Given the description of an element on the screen output the (x, y) to click on. 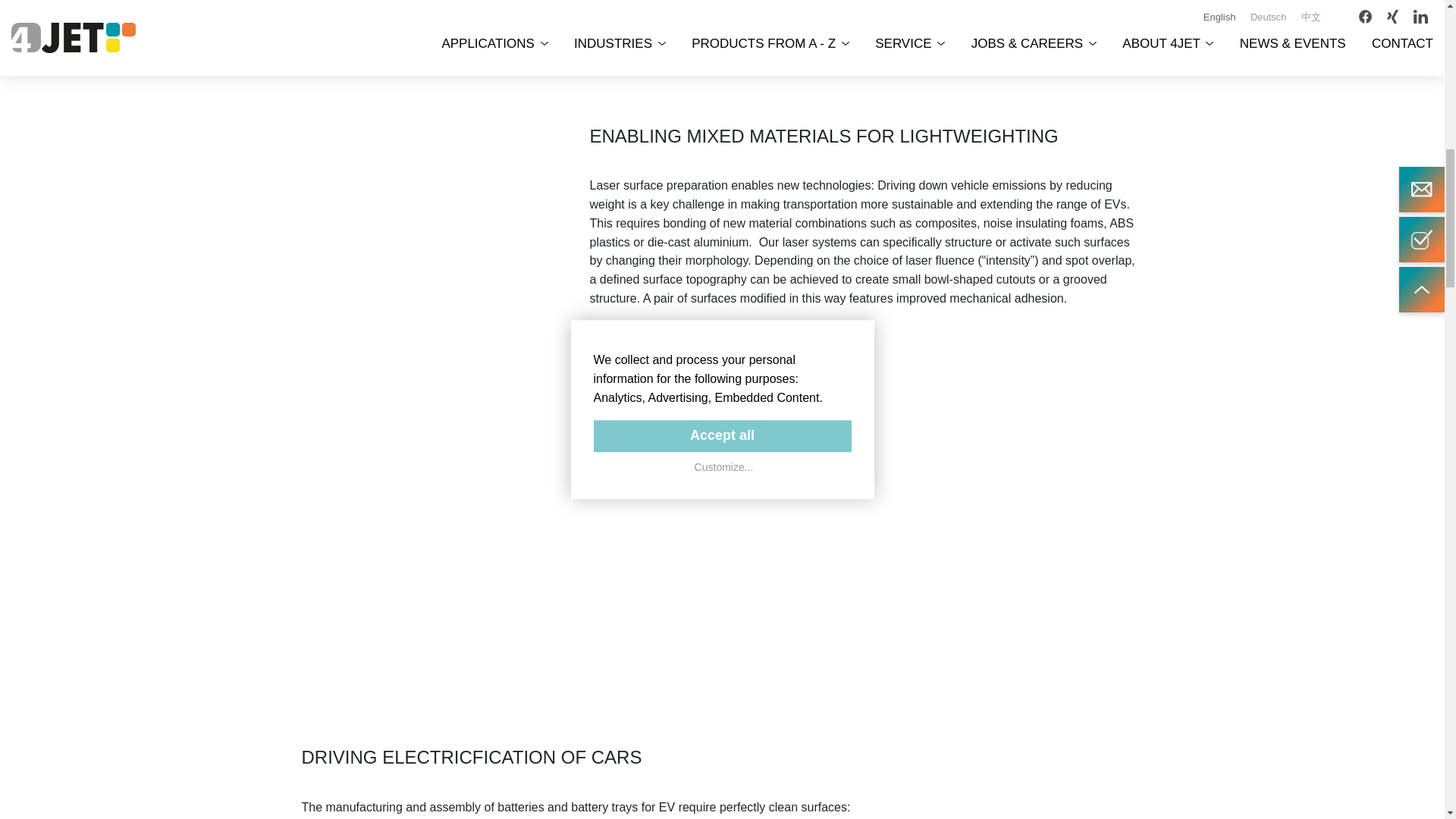
Demasking to ensure electrical conductivity in e-mobility (1009, 782)
Adhesion improvement by laser bonding preparation (434, 546)
Demasked area of a bearing shell (1009, 29)
Laser bonding preparation (434, 258)
